Given the description of an element on the screen output the (x, y) to click on. 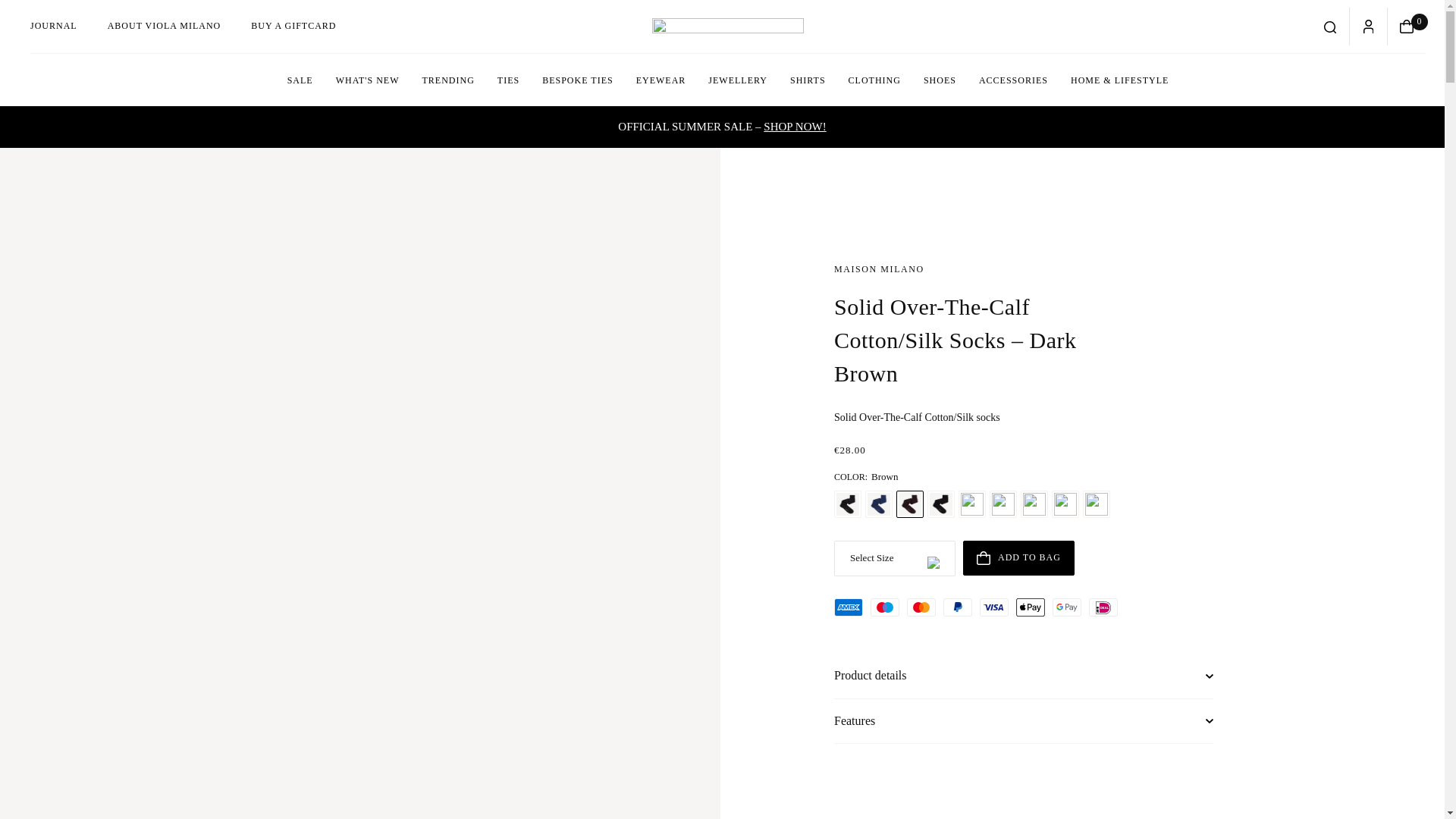
BUY A GIFTCARD (292, 25)
SALE (300, 79)
JEWELLERY (737, 79)
SHIRTS (807, 79)
BESPOKE TIES (577, 79)
American Express (848, 607)
Visa (994, 607)
WHAT'S NEW (367, 79)
PayPal (957, 607)
TRENDING (448, 79)
